Given the description of an element on the screen output the (x, y) to click on. 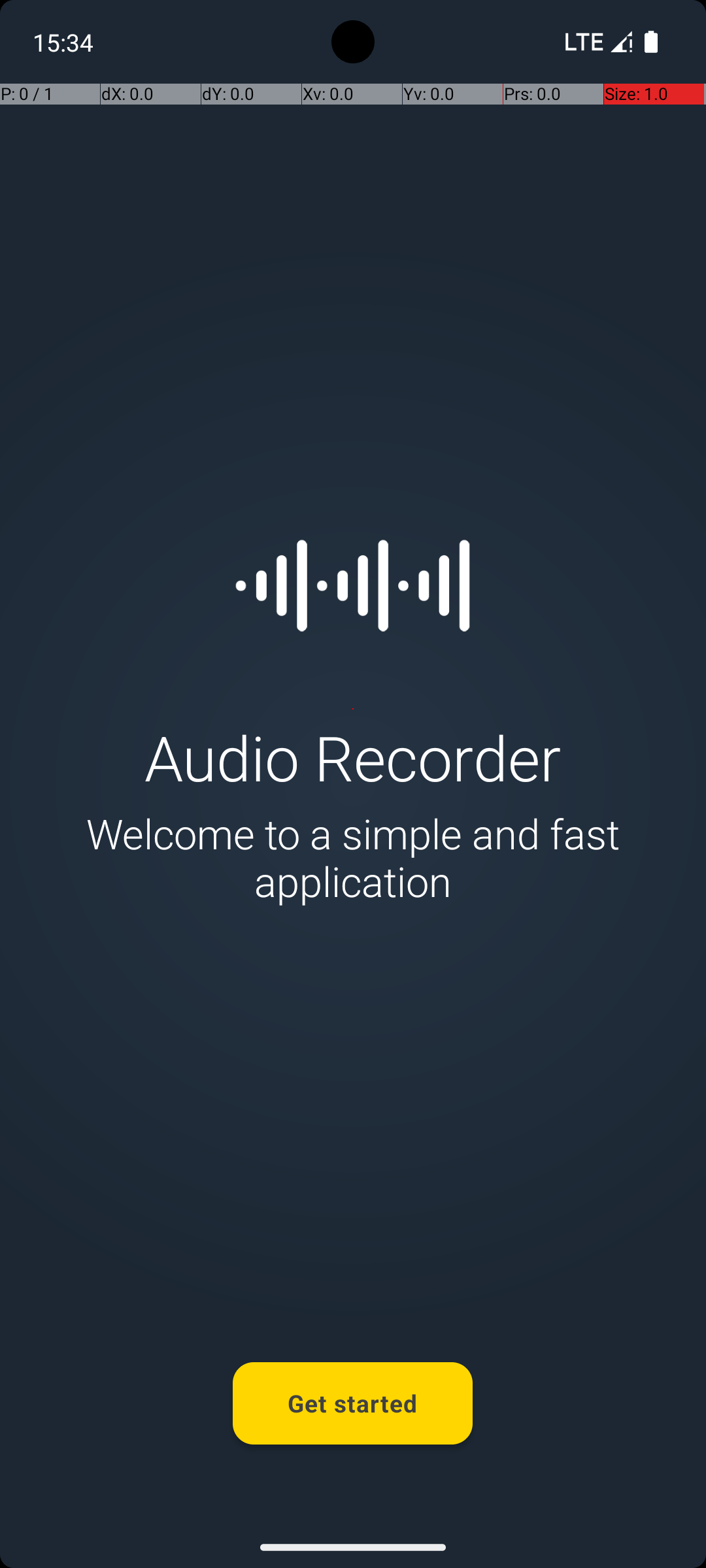
Get started Element type: android.widget.Button (352, 1403)
Audio Recorder Element type: android.widget.TextView (352, 756)
Welcome to a simple and fast application Element type: android.widget.TextView (352, 856)
